Given the description of an element on the screen output the (x, y) to click on. 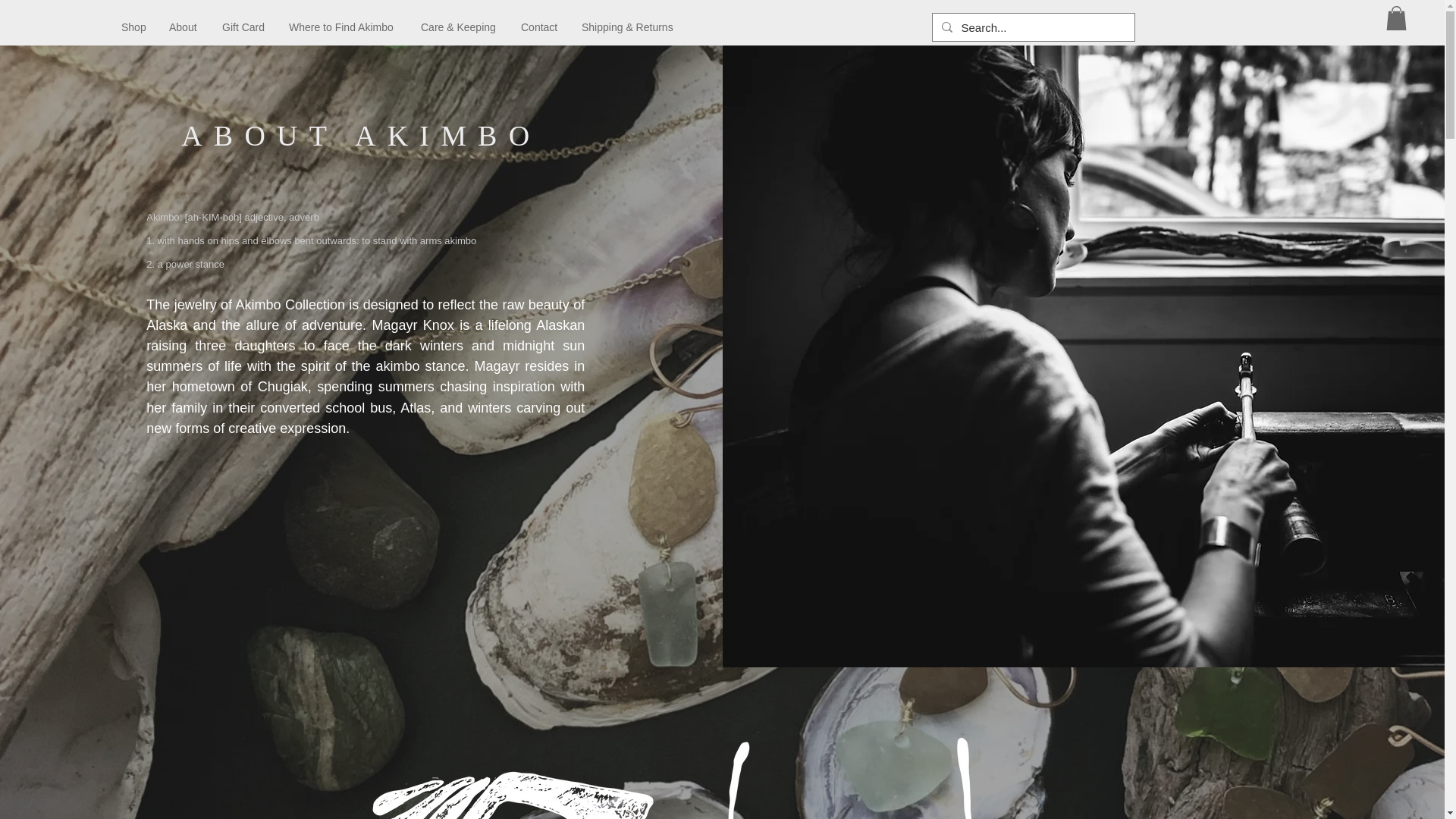
Contact (539, 27)
Where to Find Akimbo (343, 27)
About (184, 27)
Shop (133, 27)
Gift Card (244, 27)
